Given the description of an element on the screen output the (x, y) to click on. 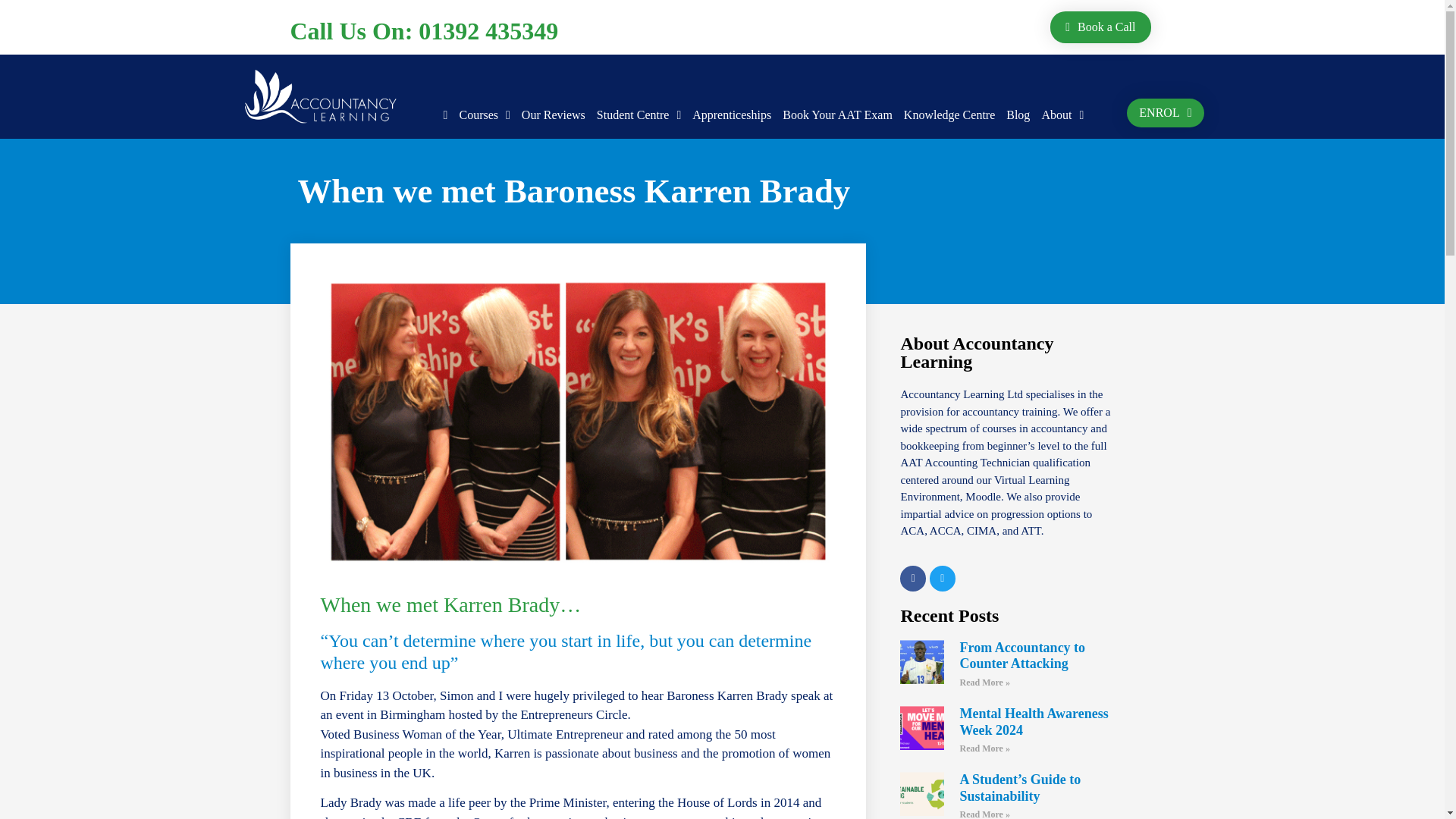
Student Centre (638, 115)
Courses (483, 115)
Call Us On: 01392 435349 (423, 31)
About (1062, 115)
Apprenticeships (732, 115)
Our Reviews (553, 115)
Knowledge Centre (949, 115)
Book a Call (1095, 25)
Book Your AAT Exam (837, 115)
